Given the description of an element on the screen output the (x, y) to click on. 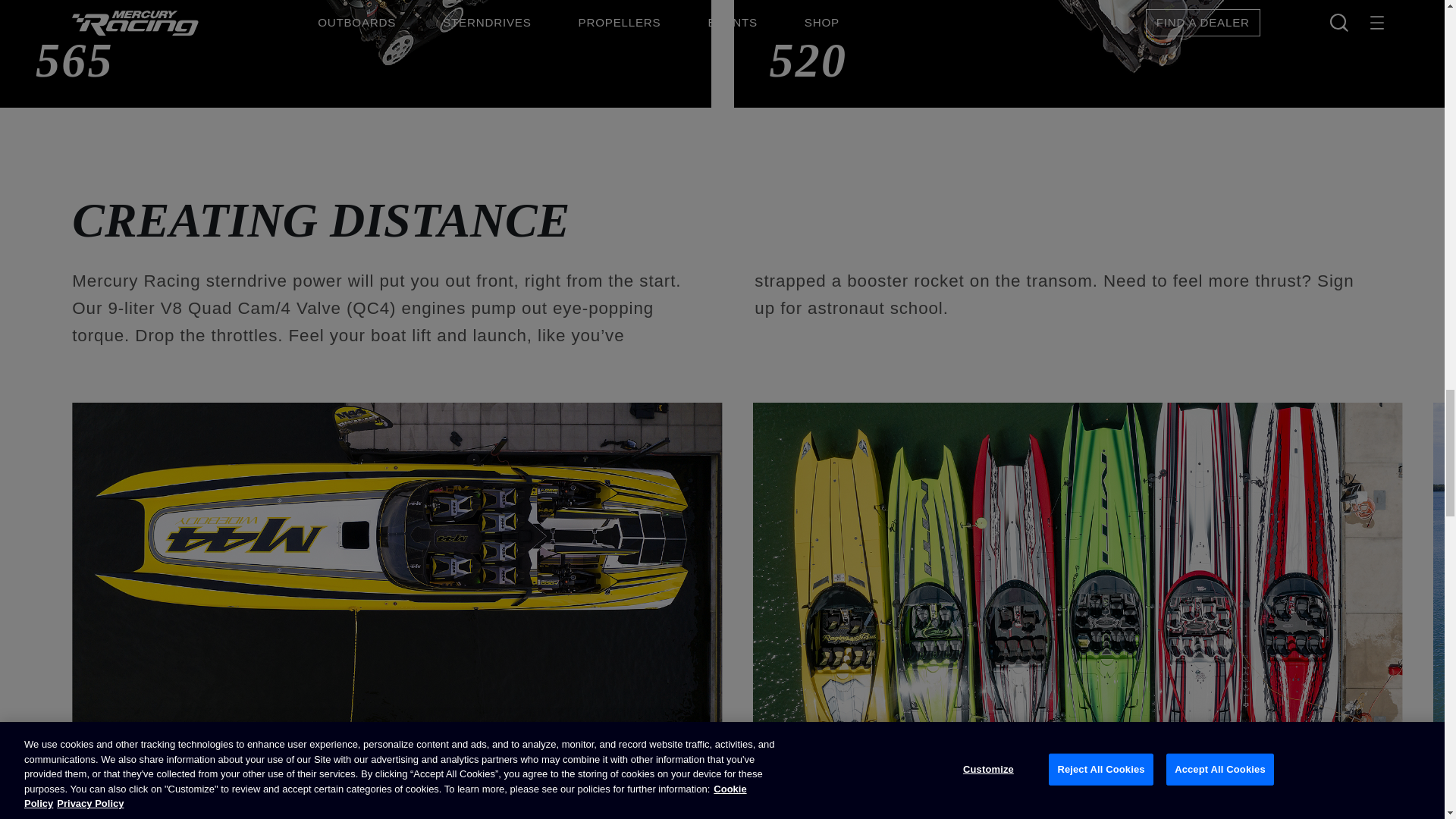
565 (361, 65)
